Given the description of an element on the screen output the (x, y) to click on. 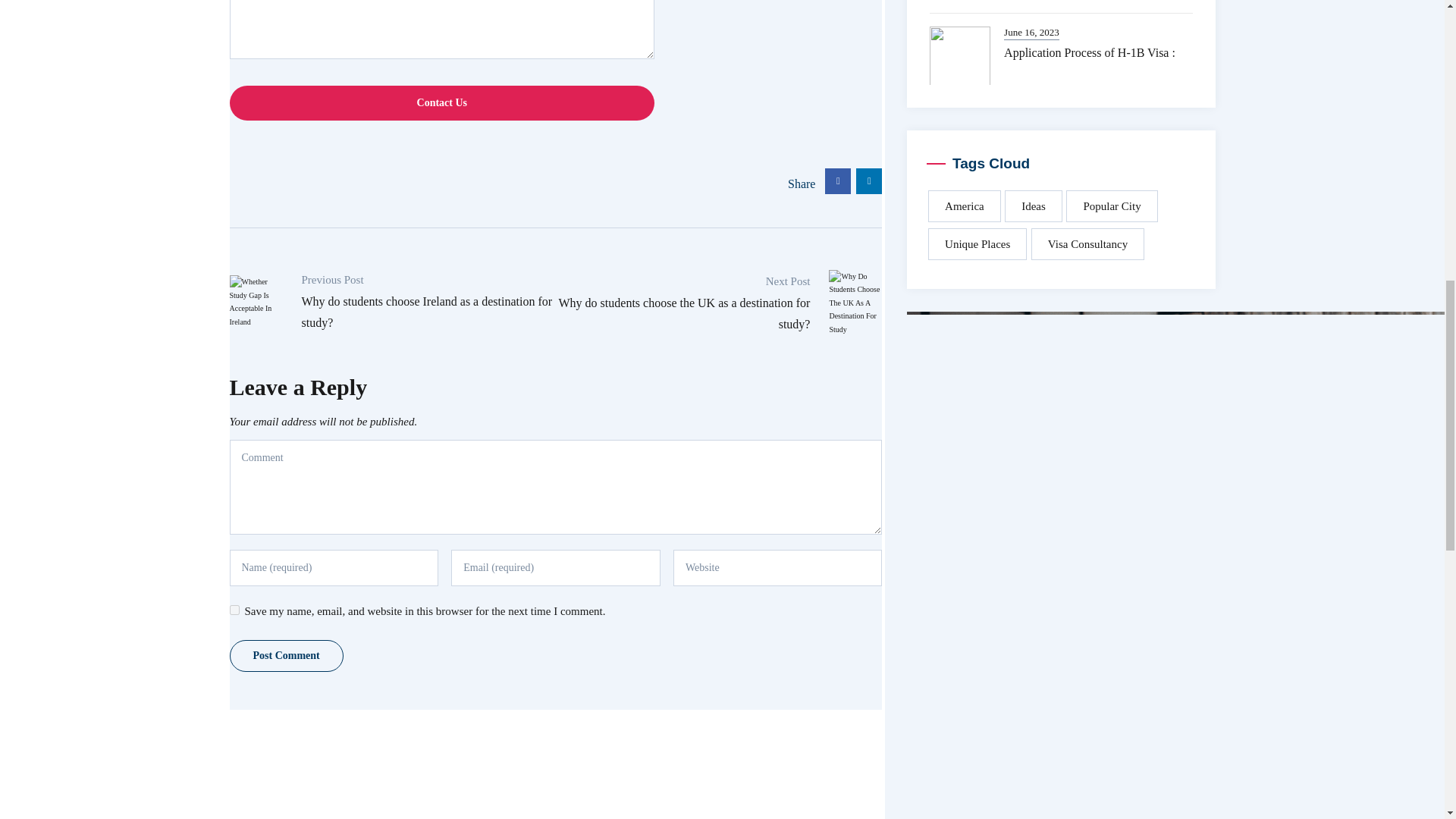
Contact Us (440, 102)
Previous Post (428, 288)
Post Comment (285, 655)
Next Post (682, 290)
yes (233, 610)
Why do students choose Ireland as a destination for study? (427, 311)
Why do students choose the UK as a destination for study? (684, 313)
Contact Us (440, 102)
